Given the description of an element on the screen output the (x, y) to click on. 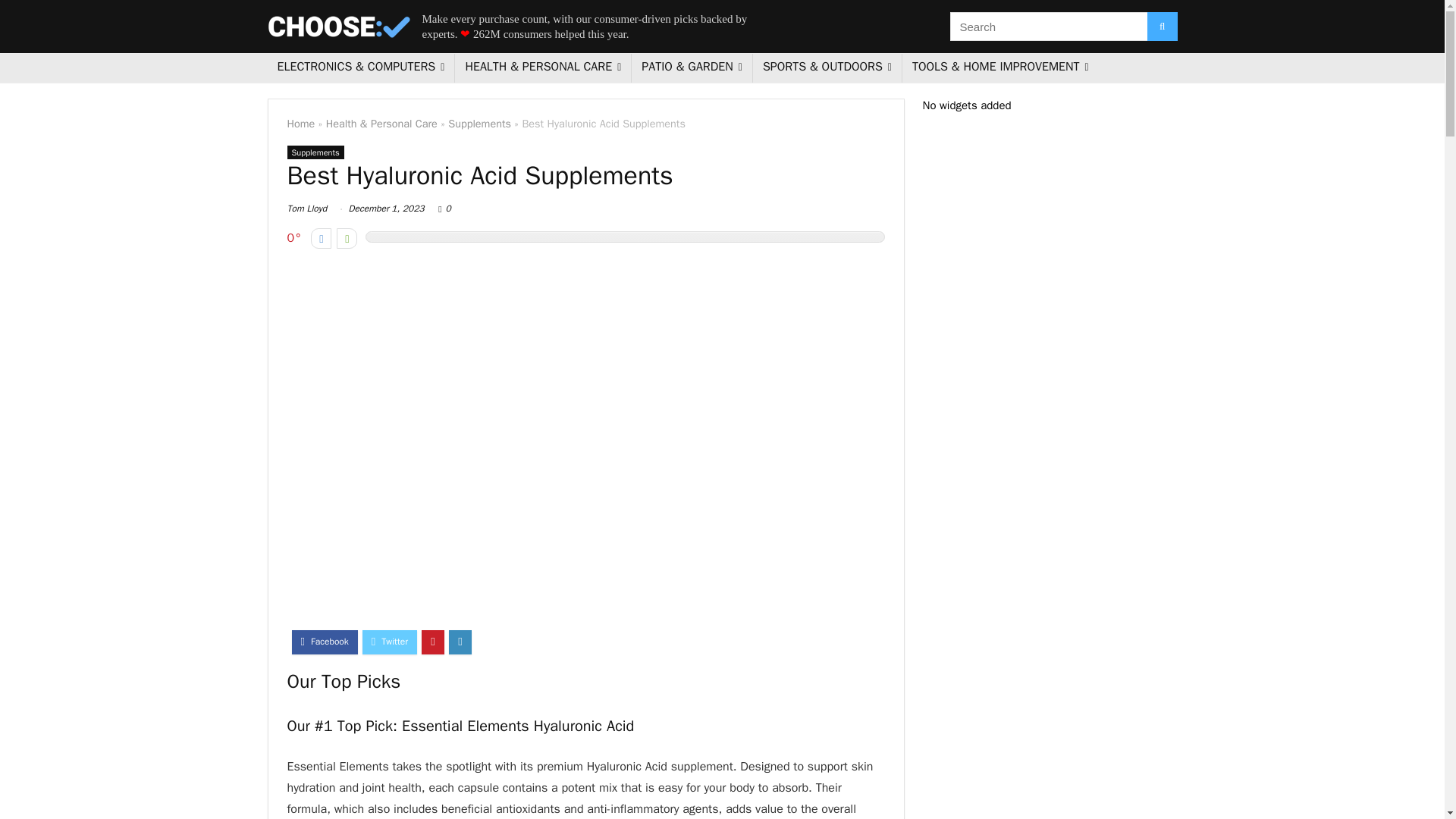
Vote up (346, 238)
View all posts in Supplements (314, 151)
Vote down (321, 238)
